Given the description of an element on the screen output the (x, y) to click on. 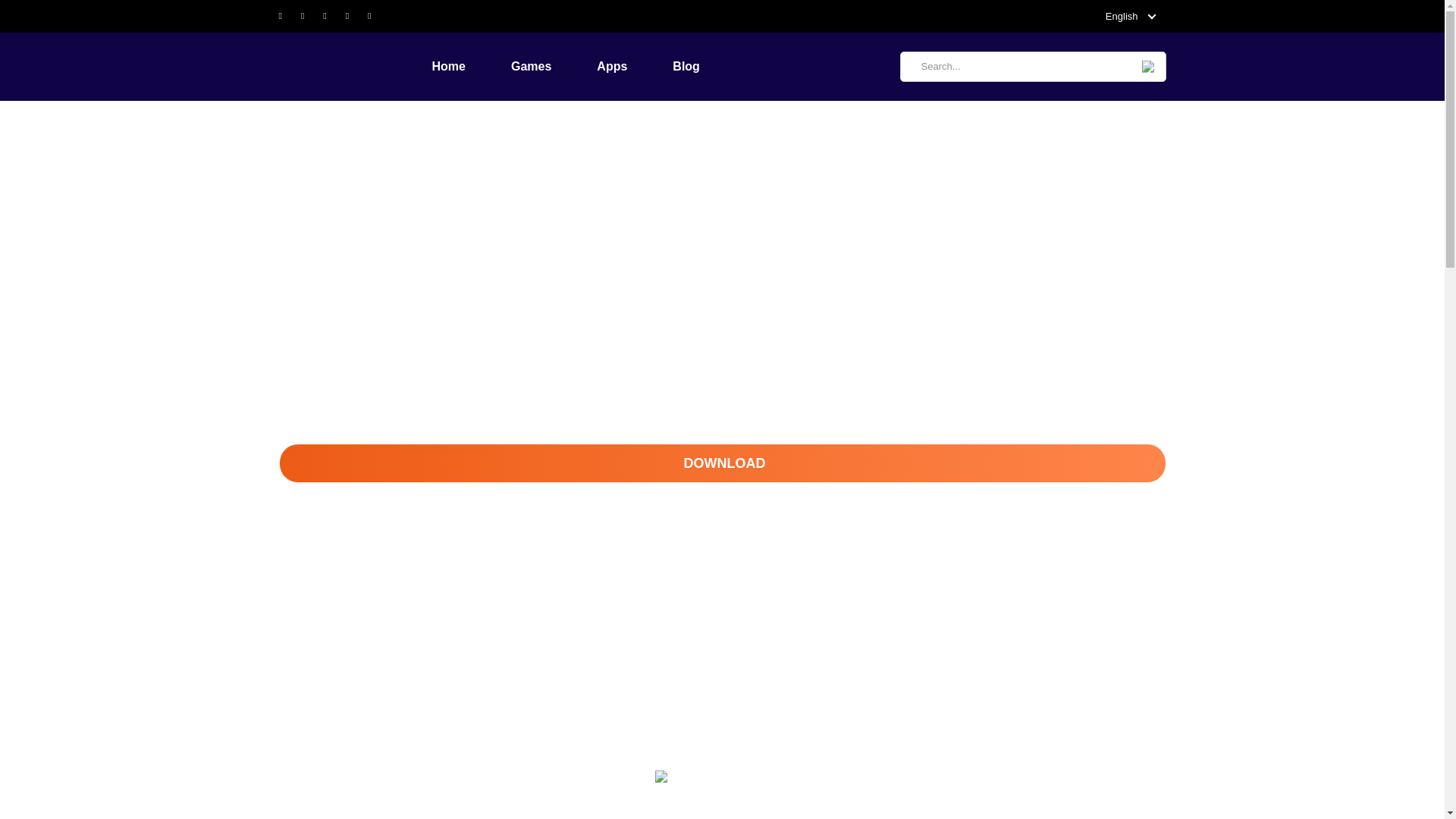
Home (471, 66)
Home (292, 123)
Apps (634, 66)
Games (330, 123)
DOWNLOAD (722, 463)
Games (553, 66)
Blog (708, 66)
